Given the description of an element on the screen output the (x, y) to click on. 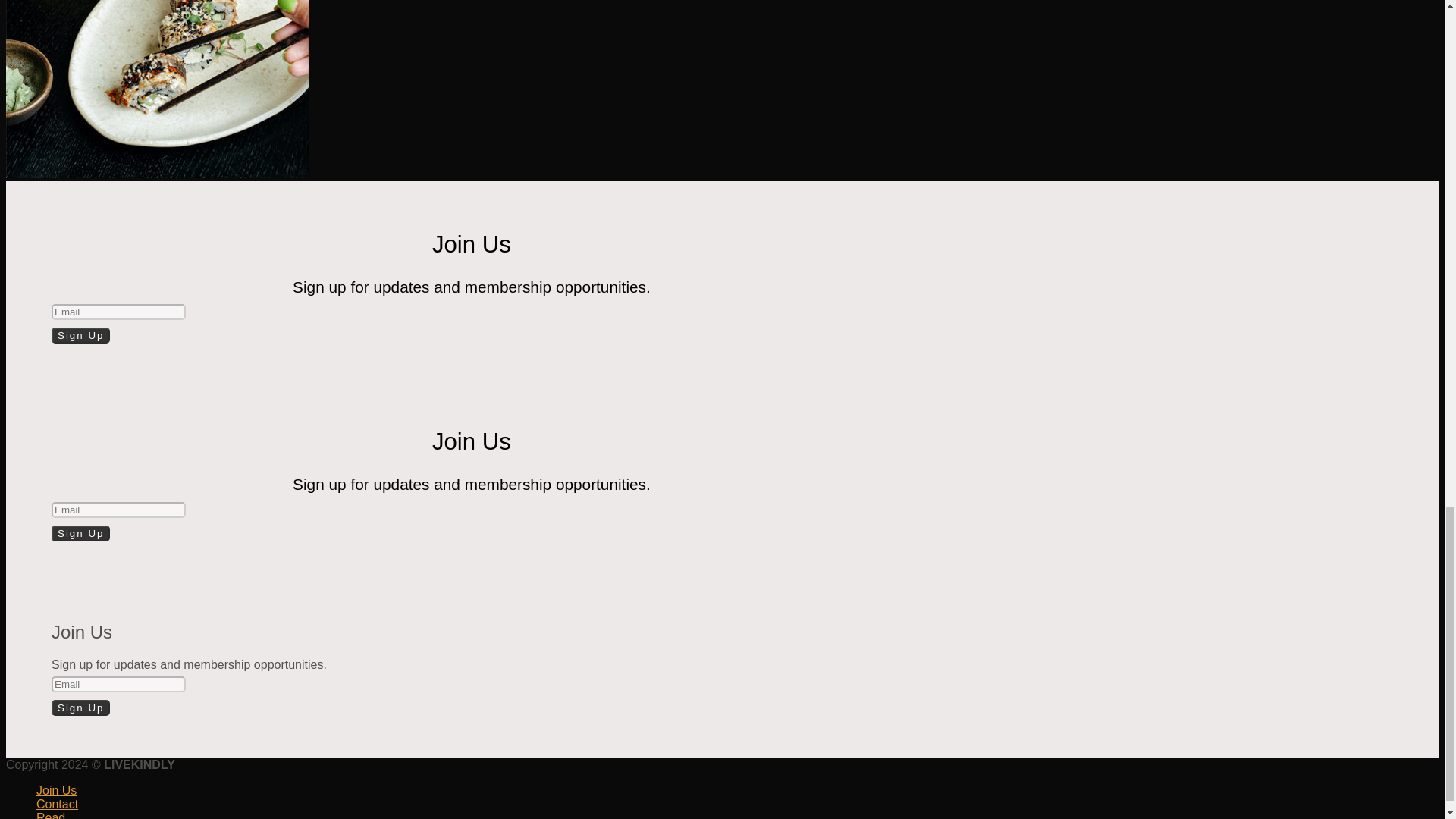
Sign Up (80, 533)
Sign Up (80, 335)
Join Us (56, 789)
Contact (57, 803)
Sign Up (80, 707)
